Given the description of an element on the screen output the (x, y) to click on. 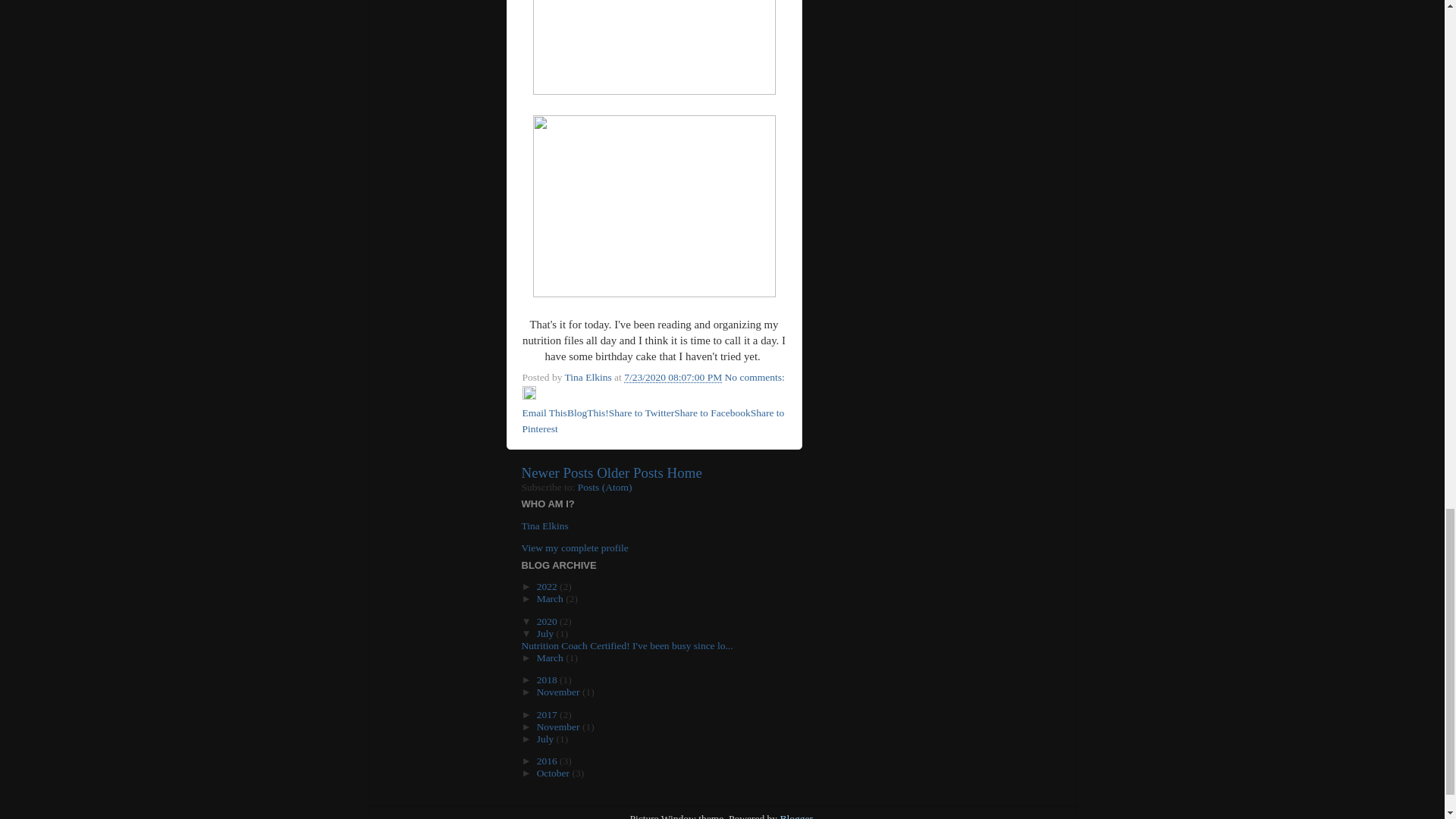
Share to Pinterest (652, 420)
July (546, 633)
Tina Elkins (589, 377)
No comments: (754, 377)
BlogThis! (587, 412)
Share to Facebook (711, 412)
Share to Twitter (641, 412)
March (551, 657)
Nutrition Coach Certified! I've been busy since lo... (627, 645)
Older Posts (629, 472)
Email This (543, 412)
2020 (548, 621)
March (551, 598)
November (559, 691)
Newer Posts (557, 472)
